Given the description of an element on the screen output the (x, y) to click on. 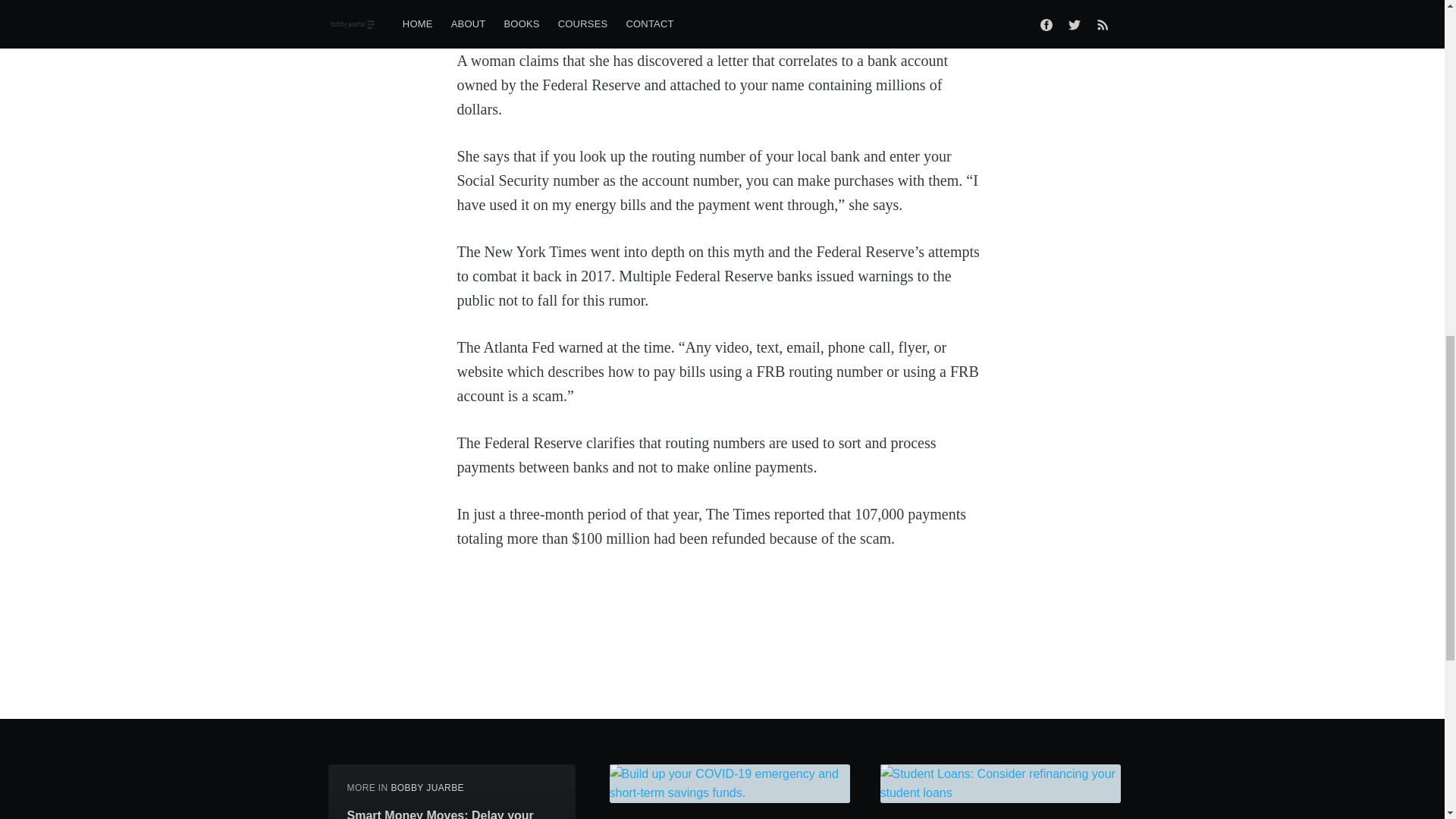
Smart Money Moves: Delay your retirement (451, 813)
BOBBY JUARBE (427, 787)
